Given the description of an element on the screen output the (x, y) to click on. 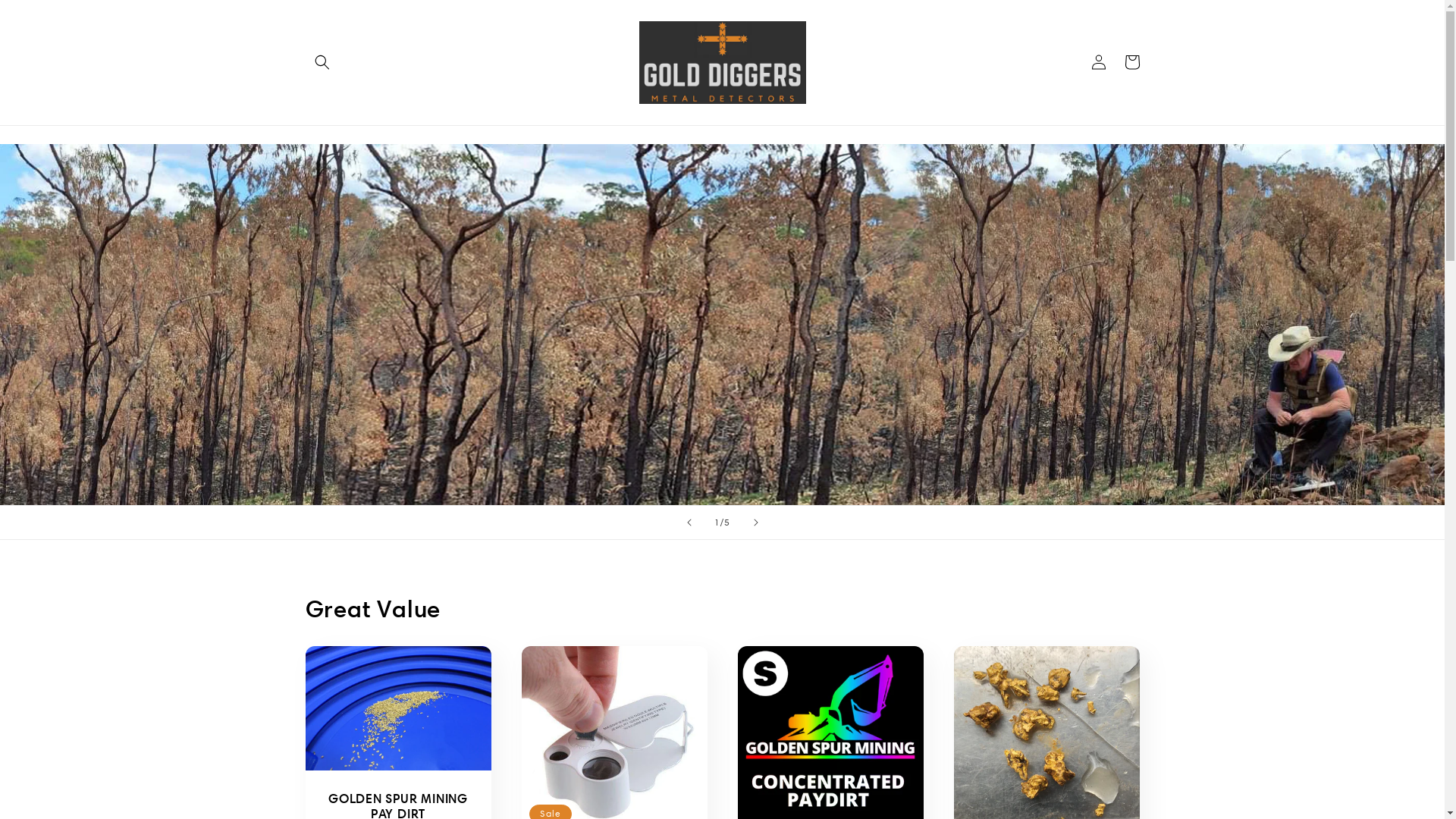
Log in Element type: text (1097, 61)
Cart Element type: text (1131, 61)
